Given the description of an element on the screen output the (x, y) to click on. 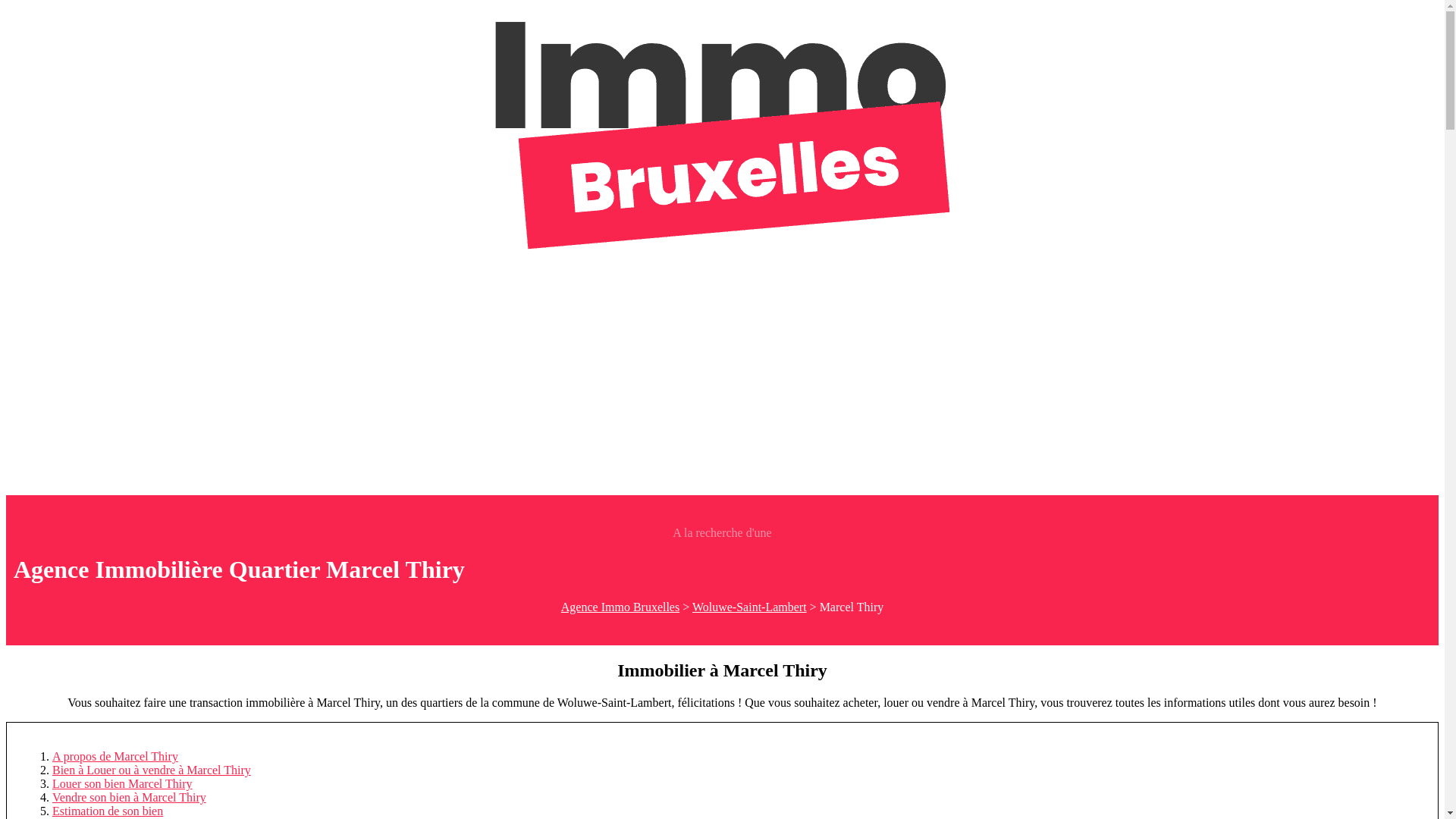
A propos de Marcel Thiry Element type: text (115, 755)
Woluwe-Saint-Lambert Element type: text (749, 606)
Louer son bien Marcel Thiry Element type: text (122, 783)
Estimation de son bien Element type: text (107, 810)
Advertisement Element type: hover (721, 381)
Agence Immo Bruxelles Element type: text (620, 606)
